Given the description of an element on the screen output the (x, y) to click on. 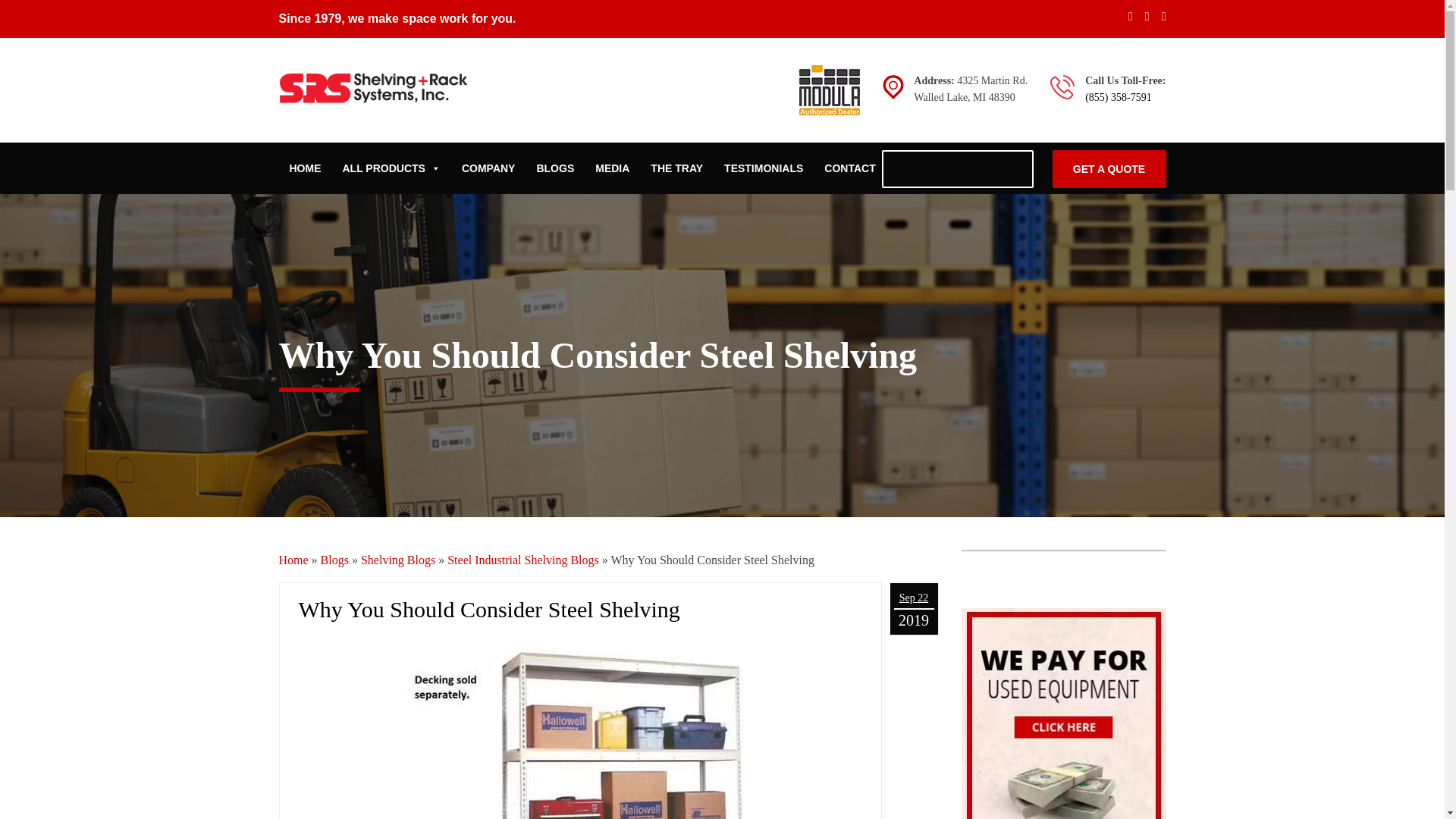
Search (1018, 169)
Search (1018, 169)
HOME (305, 168)
ALL PRODUCTS (391, 168)
Search for: (956, 168)
